Given the description of an element on the screen output the (x, y) to click on. 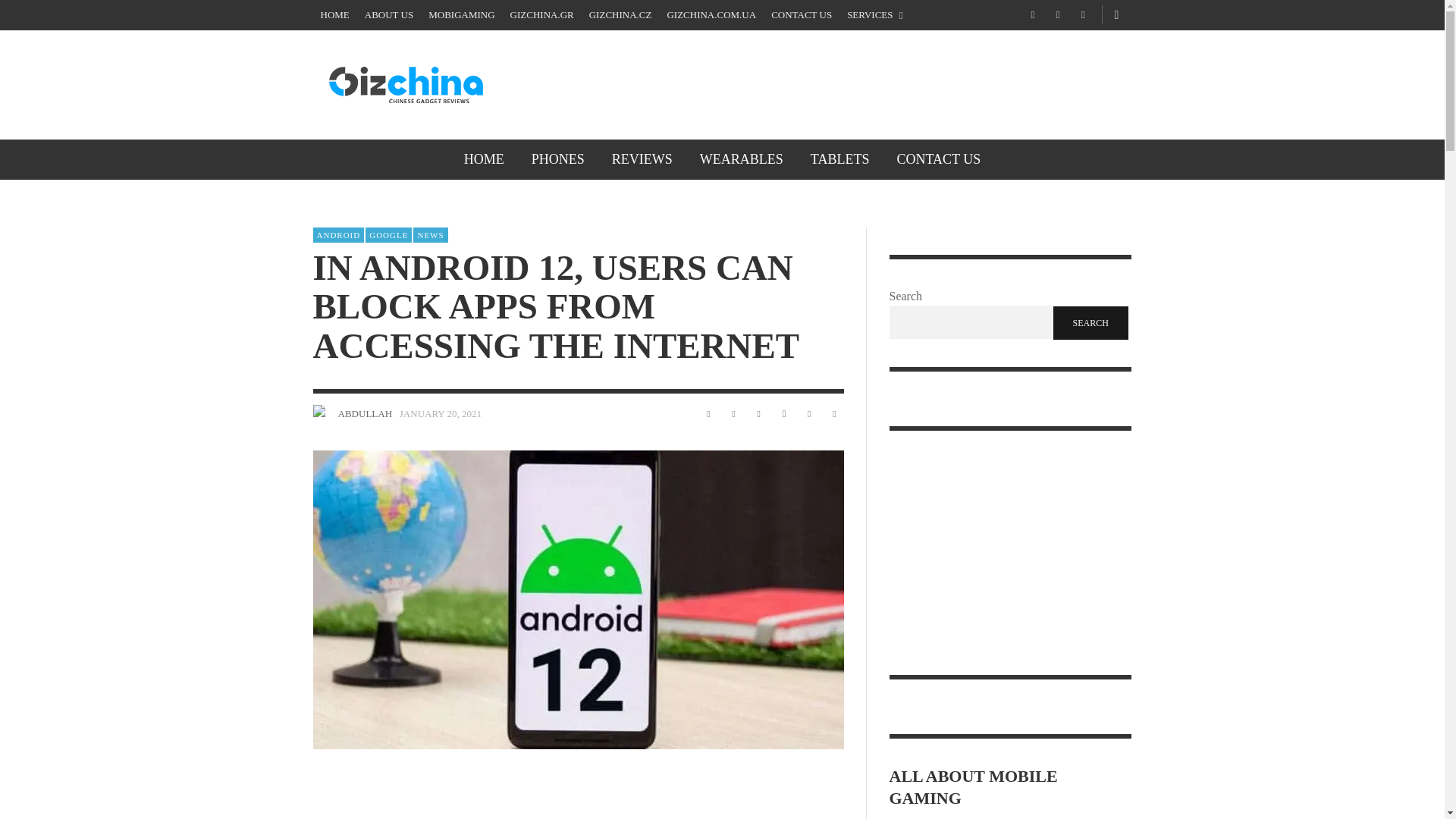
GIZCHINA.GR (541, 15)
GIZCHINA.COM.UA (710, 15)
PHONES (558, 159)
GIZCHINA.CZ (619, 15)
ABOUT US (388, 15)
SERVICES (875, 15)
REVIEWS (641, 159)
CONTACT US (801, 15)
HOME (483, 159)
HOME (334, 15)
